Given the description of an element on the screen output the (x, y) to click on. 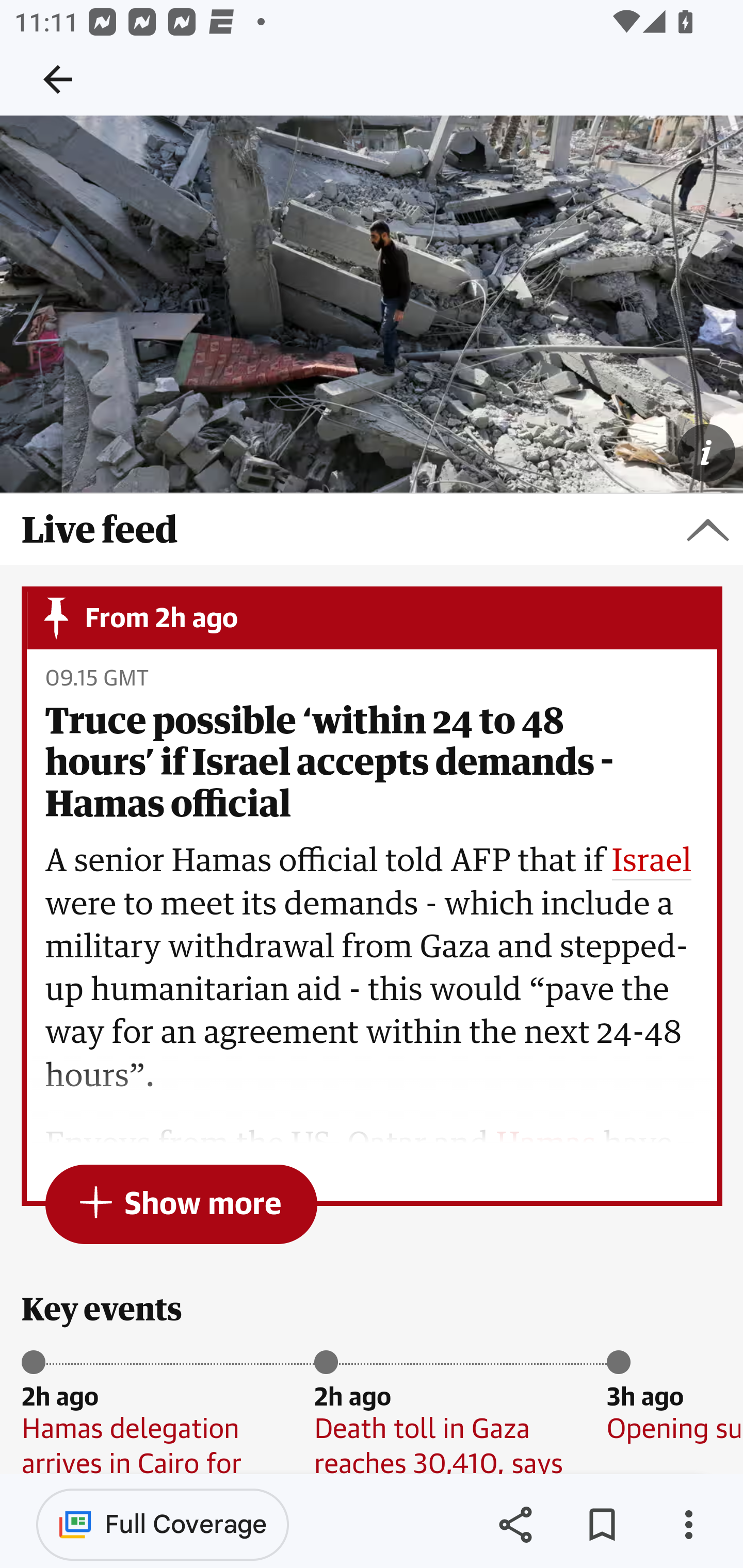
Navigate up (57, 79)
Live feed (371, 529)
09.15 GMT (96, 679)
Israel (651, 862)
Share (514, 1524)
Save for later (601, 1524)
More options (688, 1524)
Full Coverage (162, 1524)
